Given the description of an element on the screen output the (x, y) to click on. 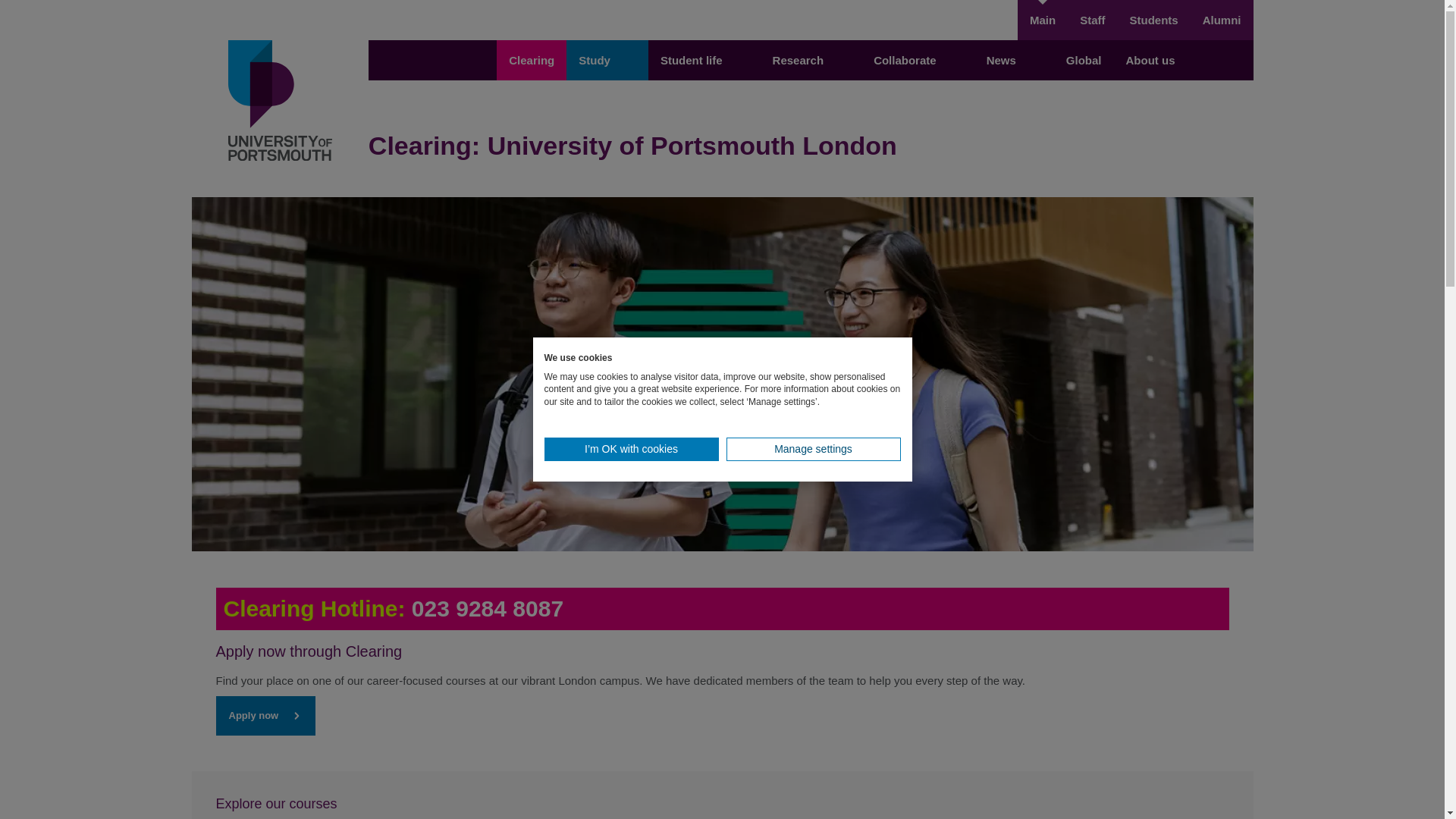
Students (1152, 20)
Study (606, 60)
Staff (1091, 20)
Clearing (531, 60)
Student life (703, 60)
Skip to main content (721, 9)
Main (1042, 20)
Alumni (1222, 20)
